Given the description of an element on the screen output the (x, y) to click on. 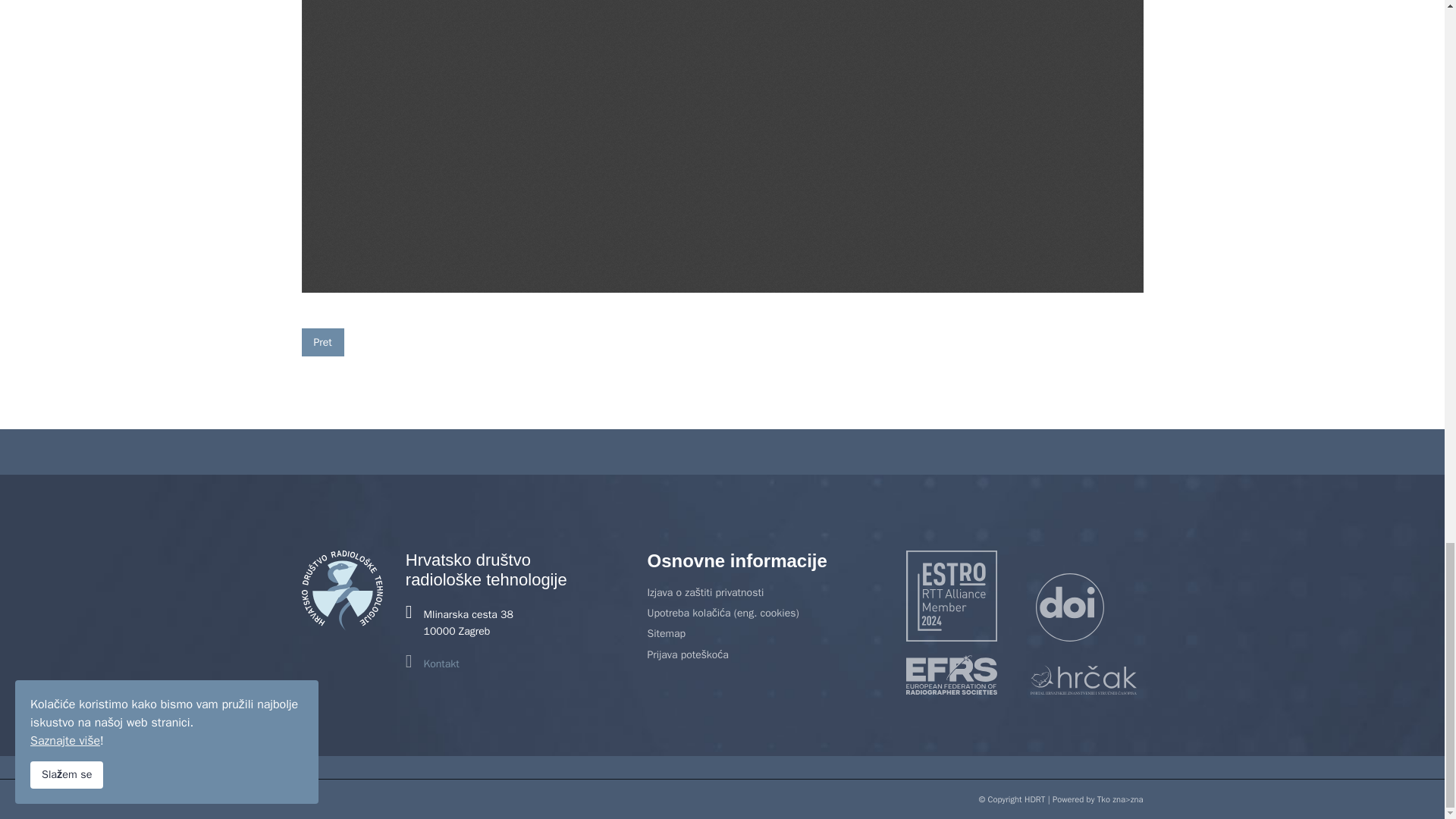
Sitemap (764, 633)
Kontakt (441, 663)
